Given the description of an element on the screen output the (x, y) to click on. 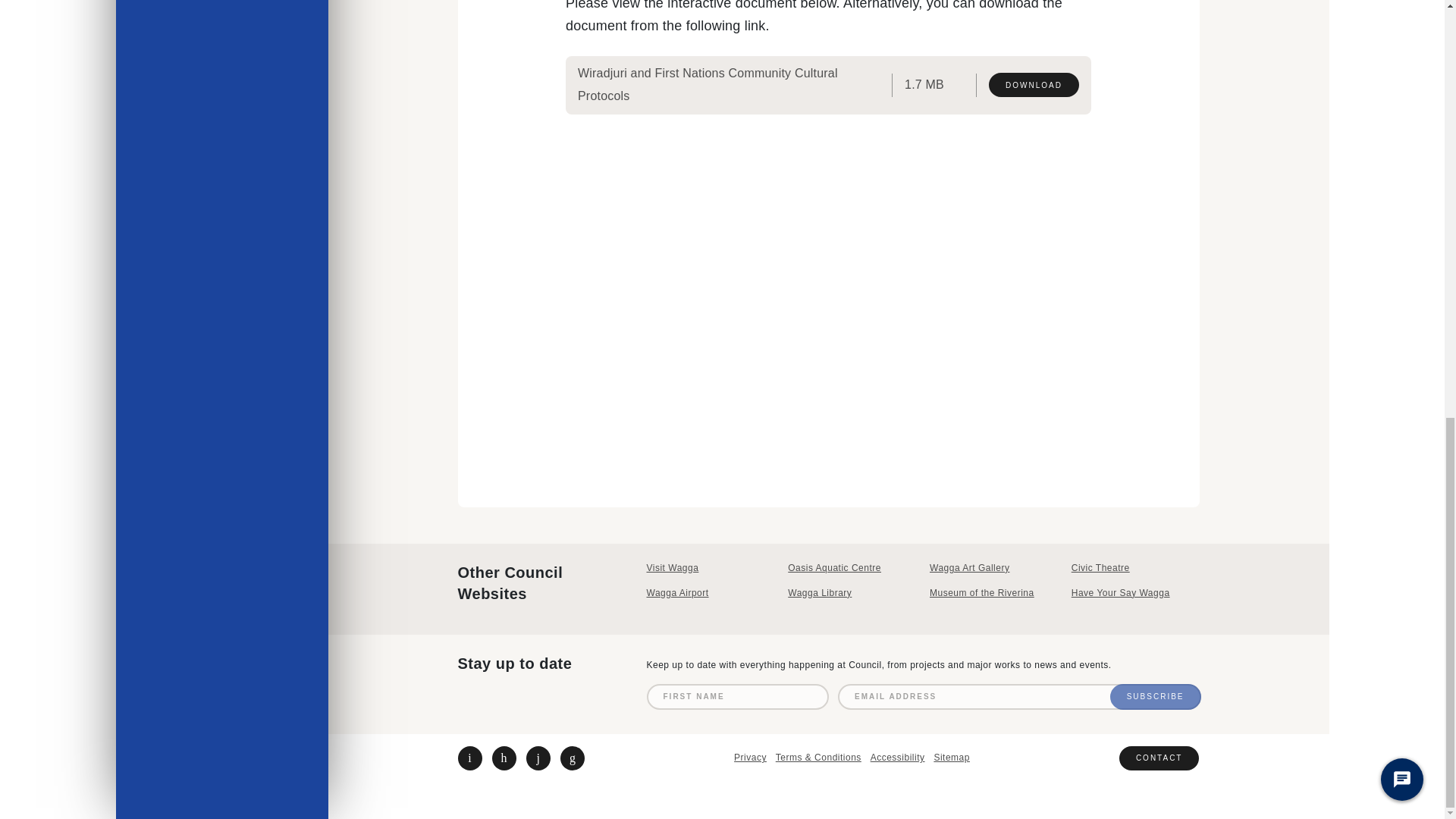
Subscribe (1155, 696)
Visit Wagga (710, 567)
Civic Theatre (1135, 567)
Subscribe (1155, 696)
Wagga Art Gallery (994, 567)
Wagga Airport (710, 593)
Oasis Aquatic Centre (851, 567)
Museum of the Riverina (994, 593)
Have Your Say Wagga (1135, 593)
Wagga Library (851, 593)
